Given the description of an element on the screen output the (x, y) to click on. 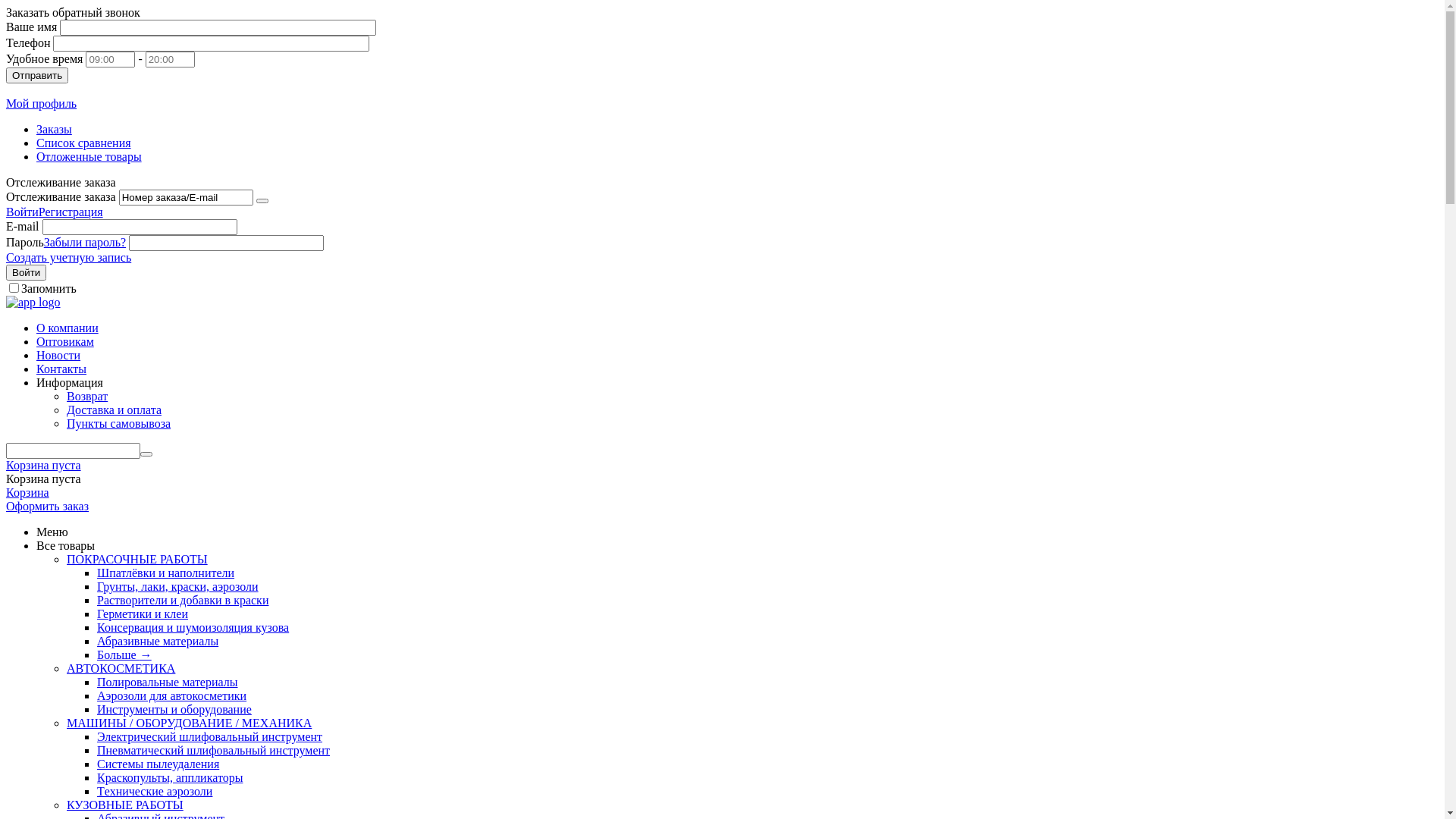
app logo Element type: hover (33, 301)
8 (029) 194-86-96 Element type: text (50, 89)
8 (033) 357-50-97 Element type: text (141, 89)
